Given the description of an element on the screen output the (x, y) to click on. 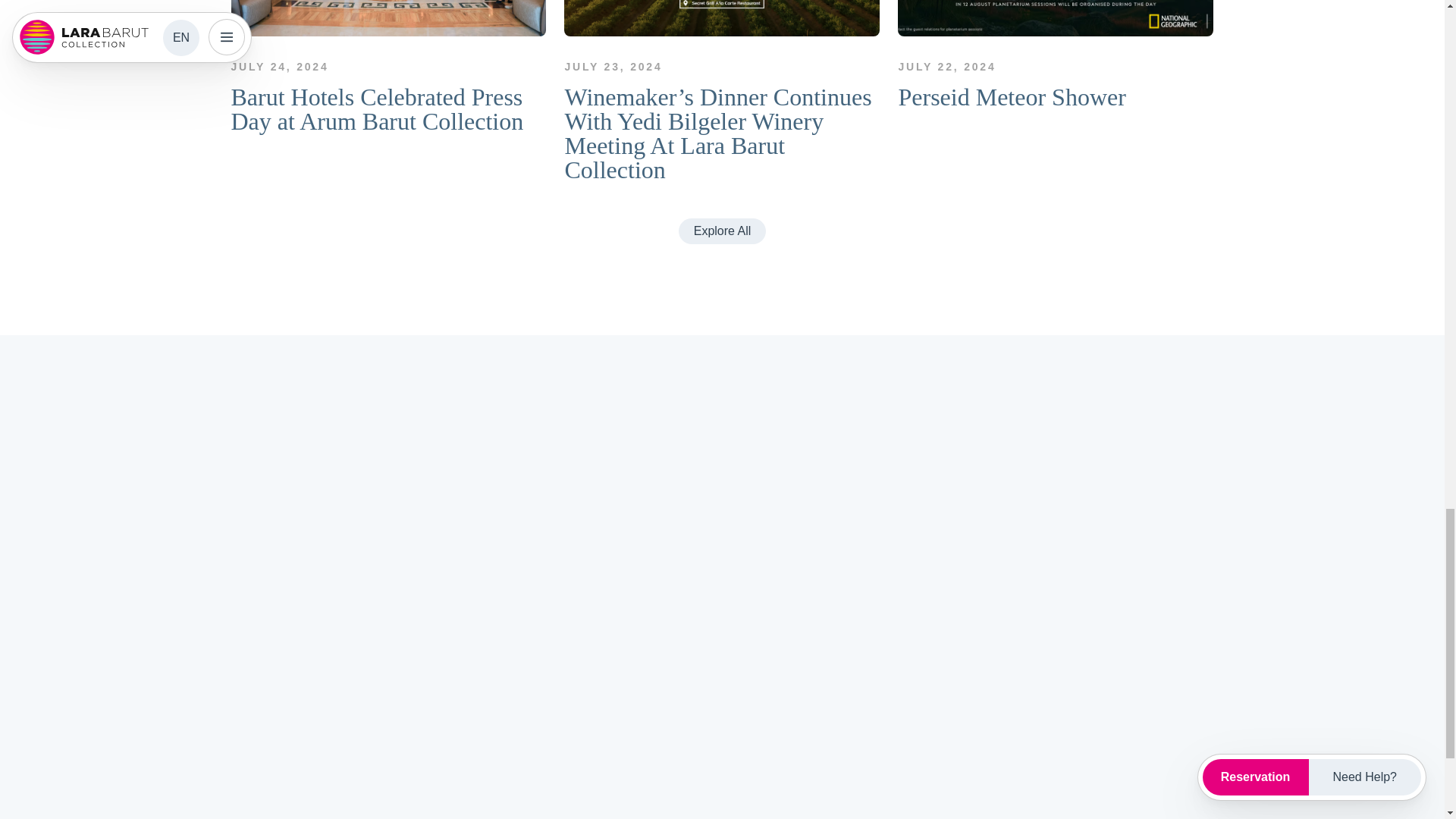
Barut Hotels Celebrated Press Day at Arum Barut Collection (388, 67)
Perseid Meteor Shower (1055, 54)
